Given the description of an element on the screen output the (x, y) to click on. 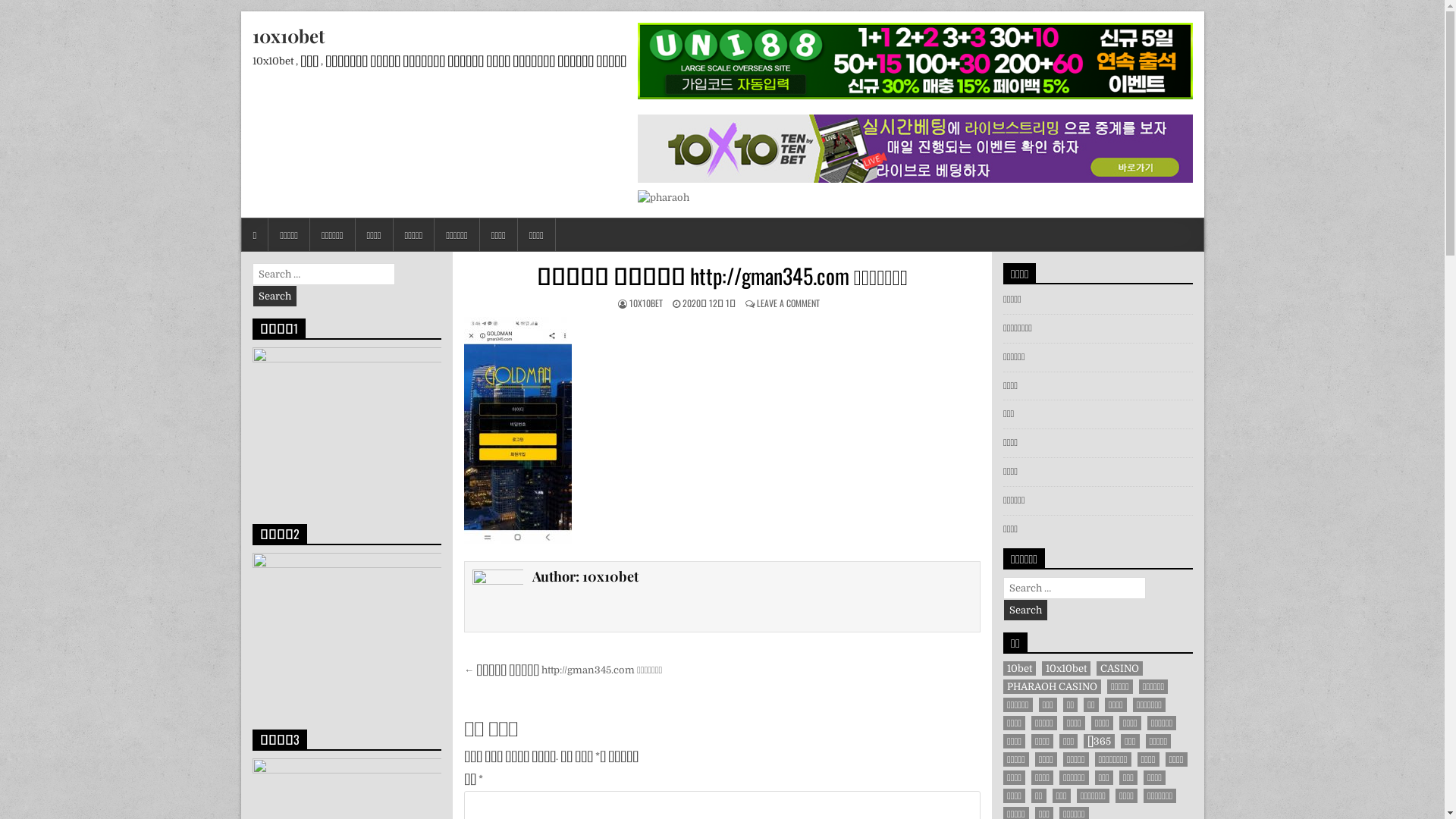
CASINO Element type: text (1119, 668)
10x10bet Element type: text (1065, 668)
Search Element type: text (1025, 610)
PHARAOH CASINO Element type: text (1052, 686)
10x10bet Element type: text (287, 35)
AUTHOR:
10X10BET Element type: text (645, 302)
10bet Element type: text (1019, 668)
Search Element type: text (273, 296)
